Given the description of an element on the screen output the (x, y) to click on. 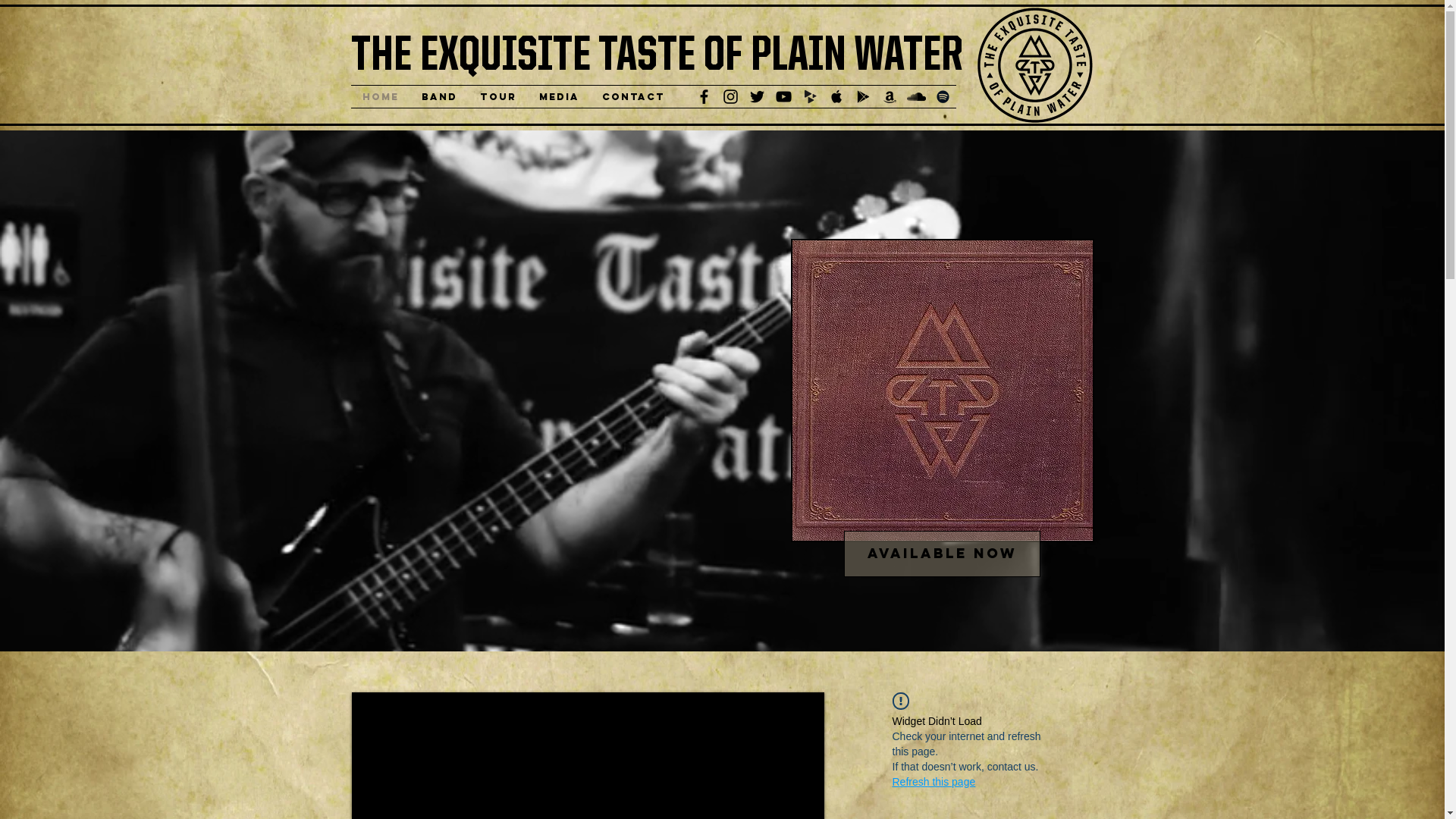
AVAILABLE NOW Element type: text (941, 553)
Tour Element type: text (497, 96)
Media Element type: text (558, 96)
Contact Element type: text (632, 96)
Band Element type: text (438, 96)
Refresh this page Element type: text (933, 781)
Home Element type: text (379, 96)
